Given the description of an element on the screen output the (x, y) to click on. 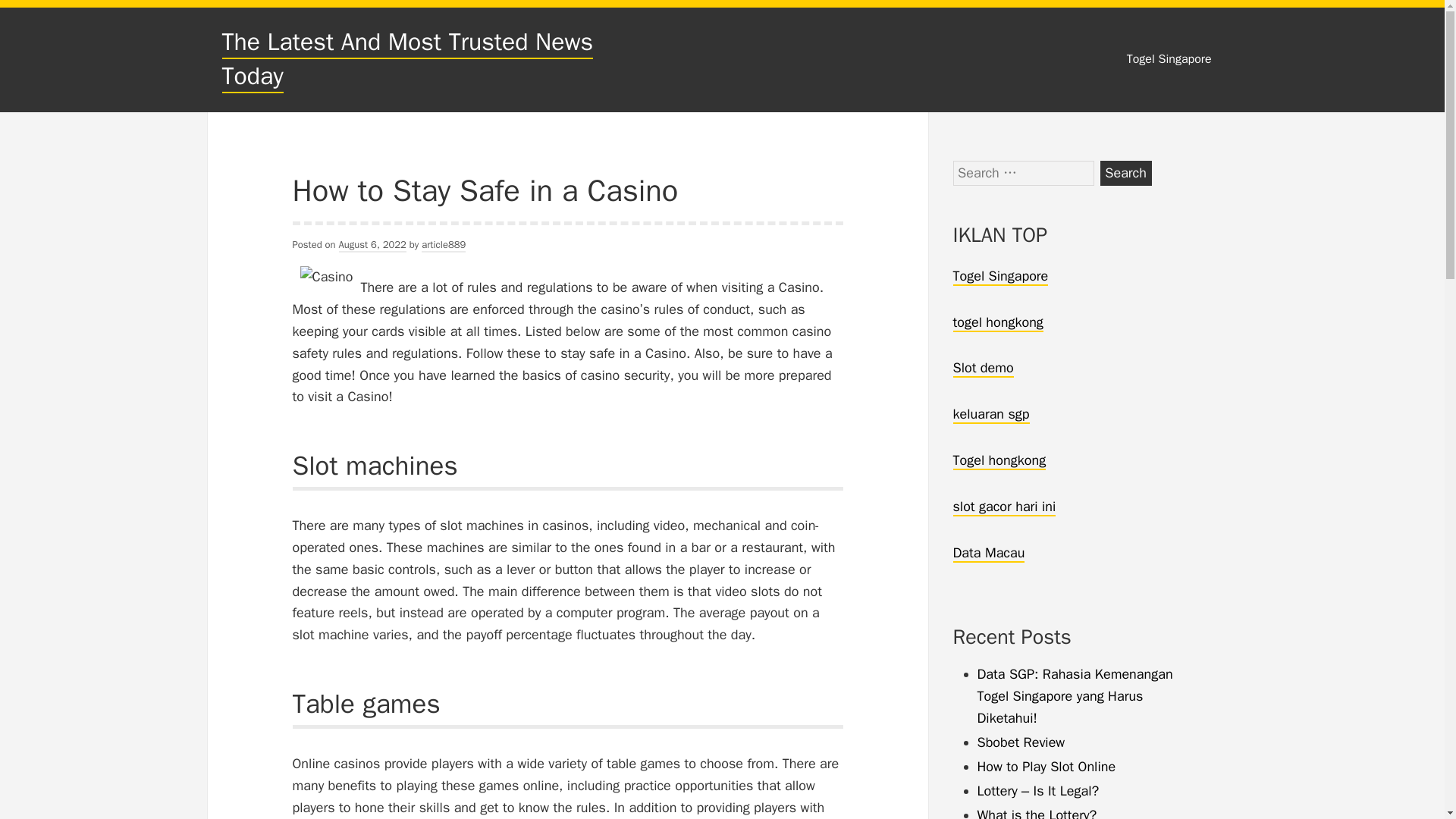
slot gacor hari ini (1003, 506)
What is the Lottery? (1036, 812)
August 6, 2022 (372, 245)
Search (1125, 173)
How to Play Slot Online (1045, 766)
Search (1125, 173)
article889 (443, 245)
The Latest And Most Trusted News Today (406, 59)
Togel Singapore (1000, 276)
keluaran sgp (990, 414)
Togel hongkong (998, 461)
Data Macau (988, 553)
Slot demo (982, 368)
